Given the description of an element on the screen output the (x, y) to click on. 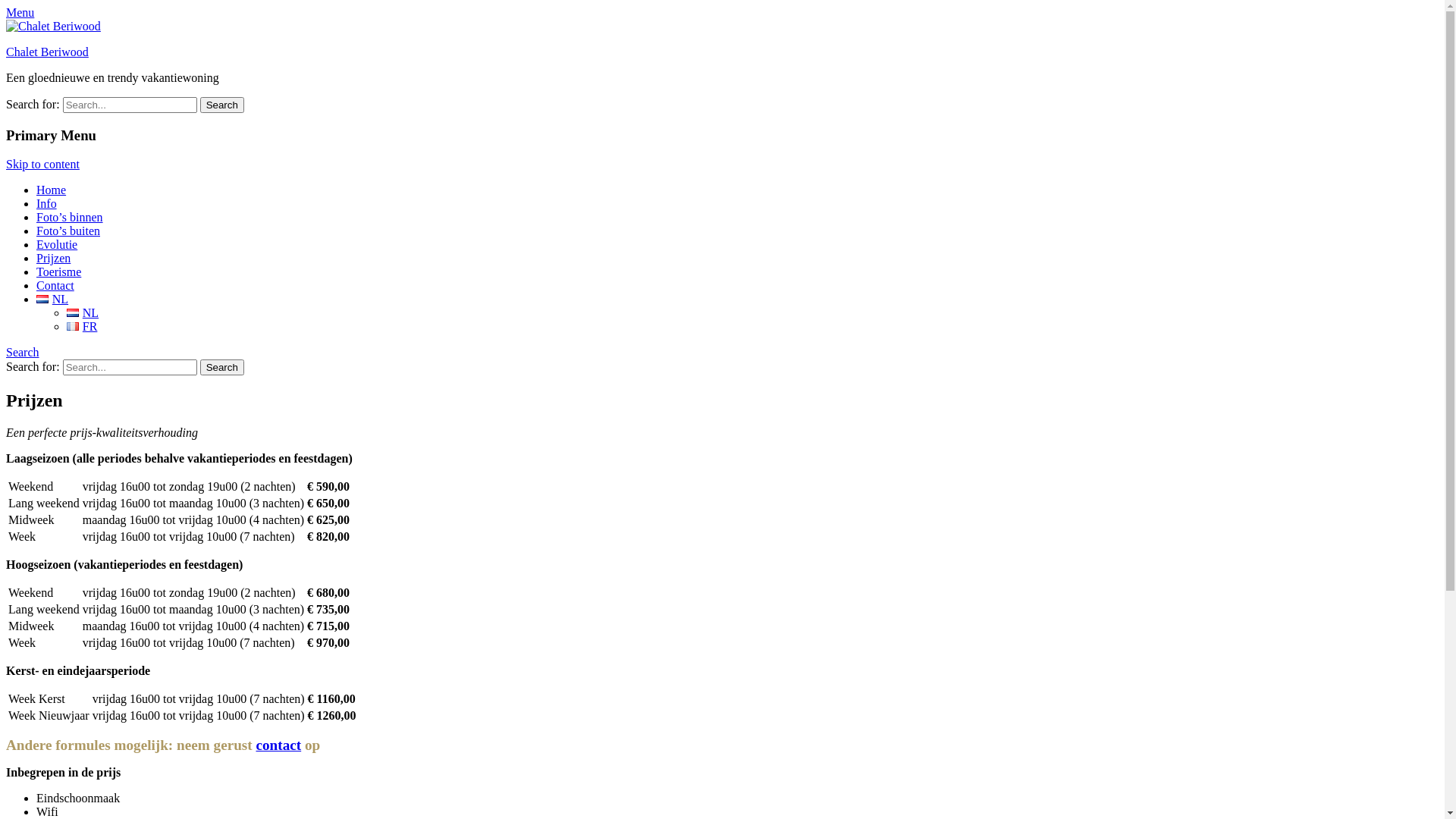
Contact Element type: text (55, 285)
Evolutie Element type: text (56, 244)
Home Element type: text (50, 189)
Search Element type: text (222, 104)
NL Element type: text (82, 312)
Info Element type: text (46, 203)
Search for: Element type: hover (129, 367)
Menu Element type: text (20, 12)
NL Element type: hover (72, 312)
NL Element type: text (52, 298)
FR Element type: hover (72, 326)
Chalet Beriwood Element type: text (47, 51)
Search Element type: text (22, 351)
Toerisme Element type: text (58, 271)
FR Element type: text (81, 326)
Search Element type: text (222, 367)
Prijzen Element type: text (53, 257)
contact Element type: text (278, 745)
NL Element type: hover (42, 298)
Search for: Element type: hover (129, 104)
Skip to content Element type: text (42, 163)
